Given the description of an element on the screen output the (x, y) to click on. 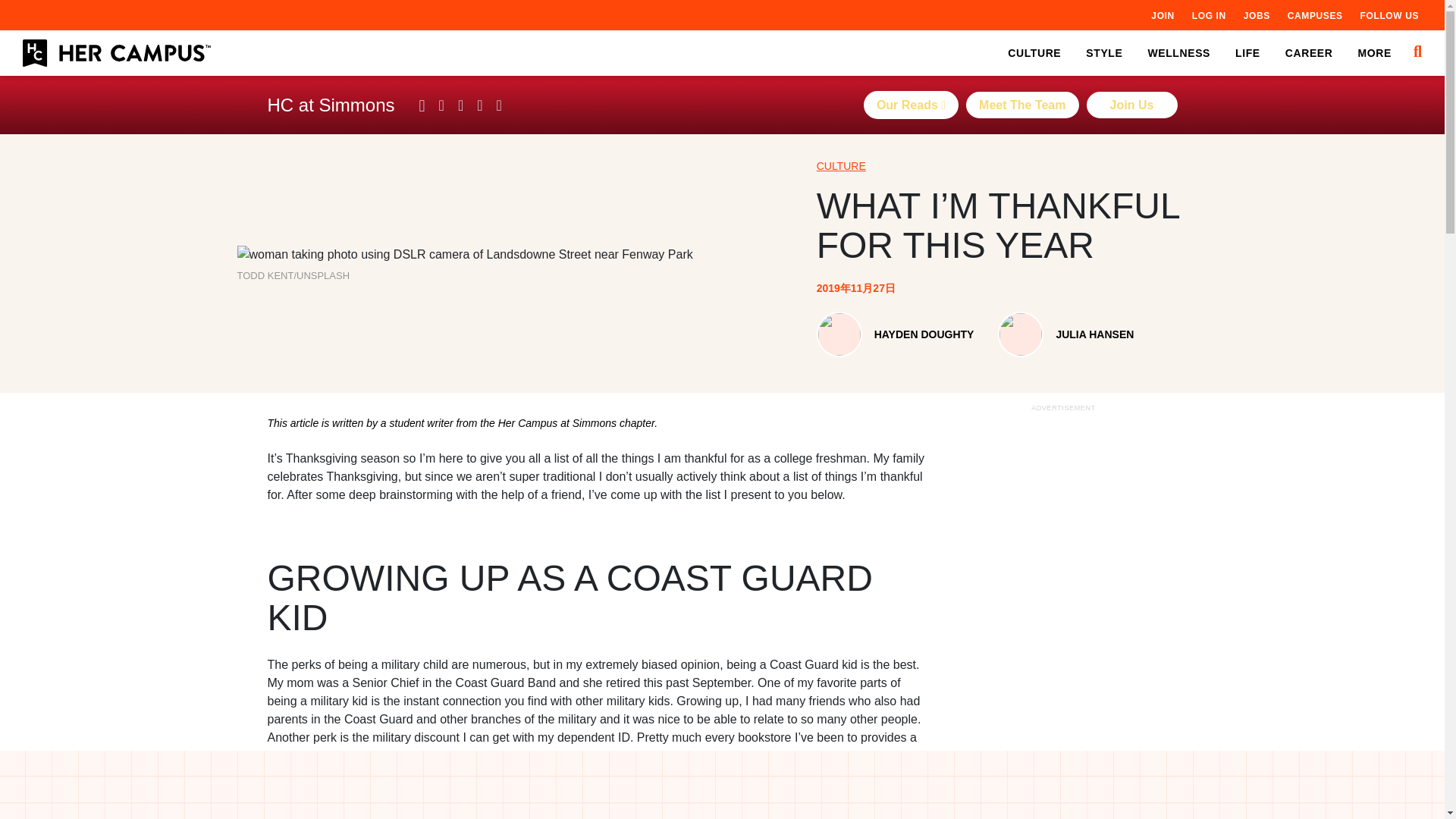
JOBS (1256, 15)
JOIN (1162, 15)
LOG IN (1208, 15)
CAMPUSES (1314, 15)
What I'm Thankful for This Year 1 (464, 254)
